Given the description of an element on the screen output the (x, y) to click on. 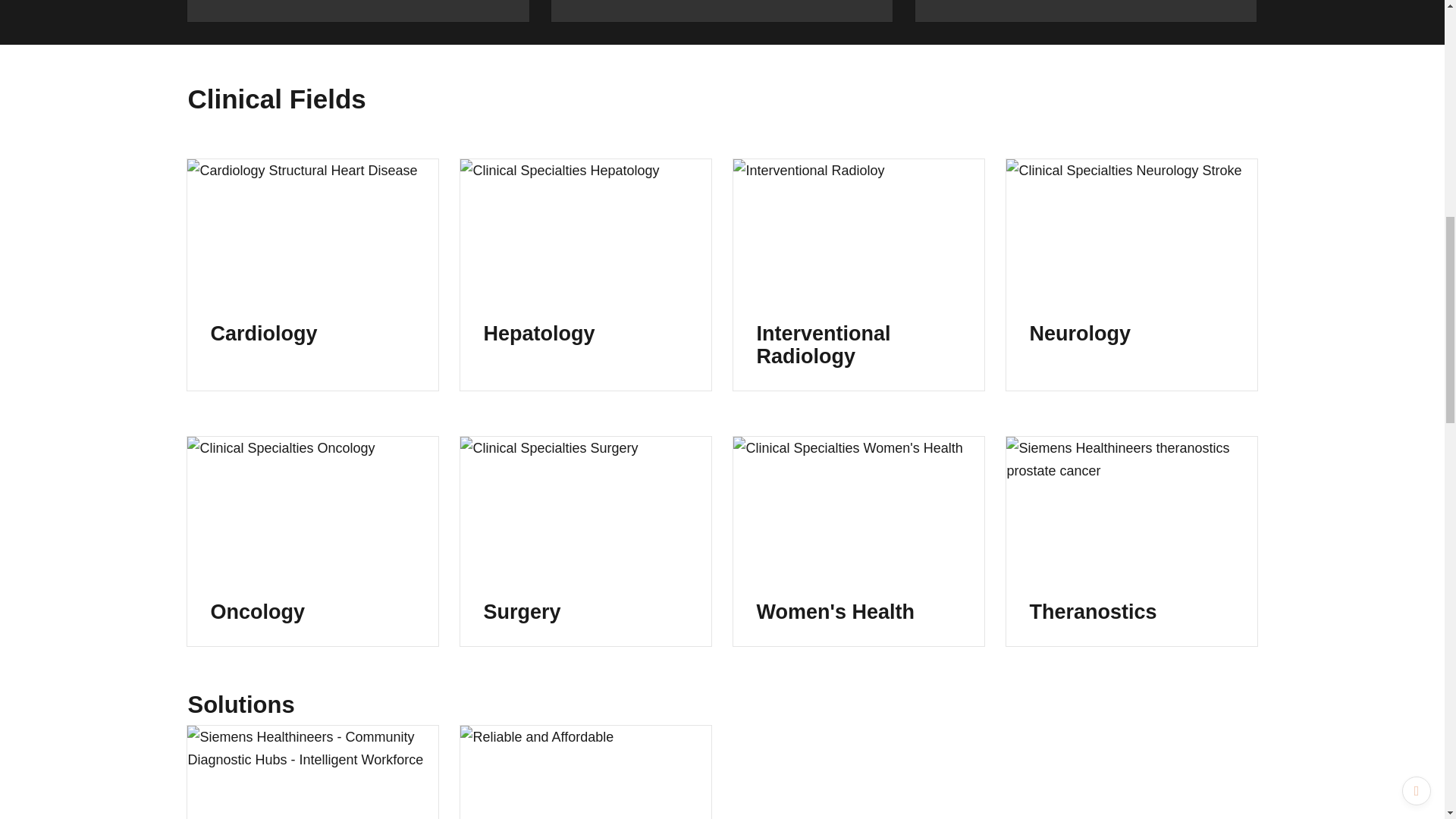
Stroke  (357, 11)
Cancer Care (1085, 11)
Cardiology  (312, 274)
Cardiovascular Care (721, 11)
